Given the description of an element on the screen output the (x, y) to click on. 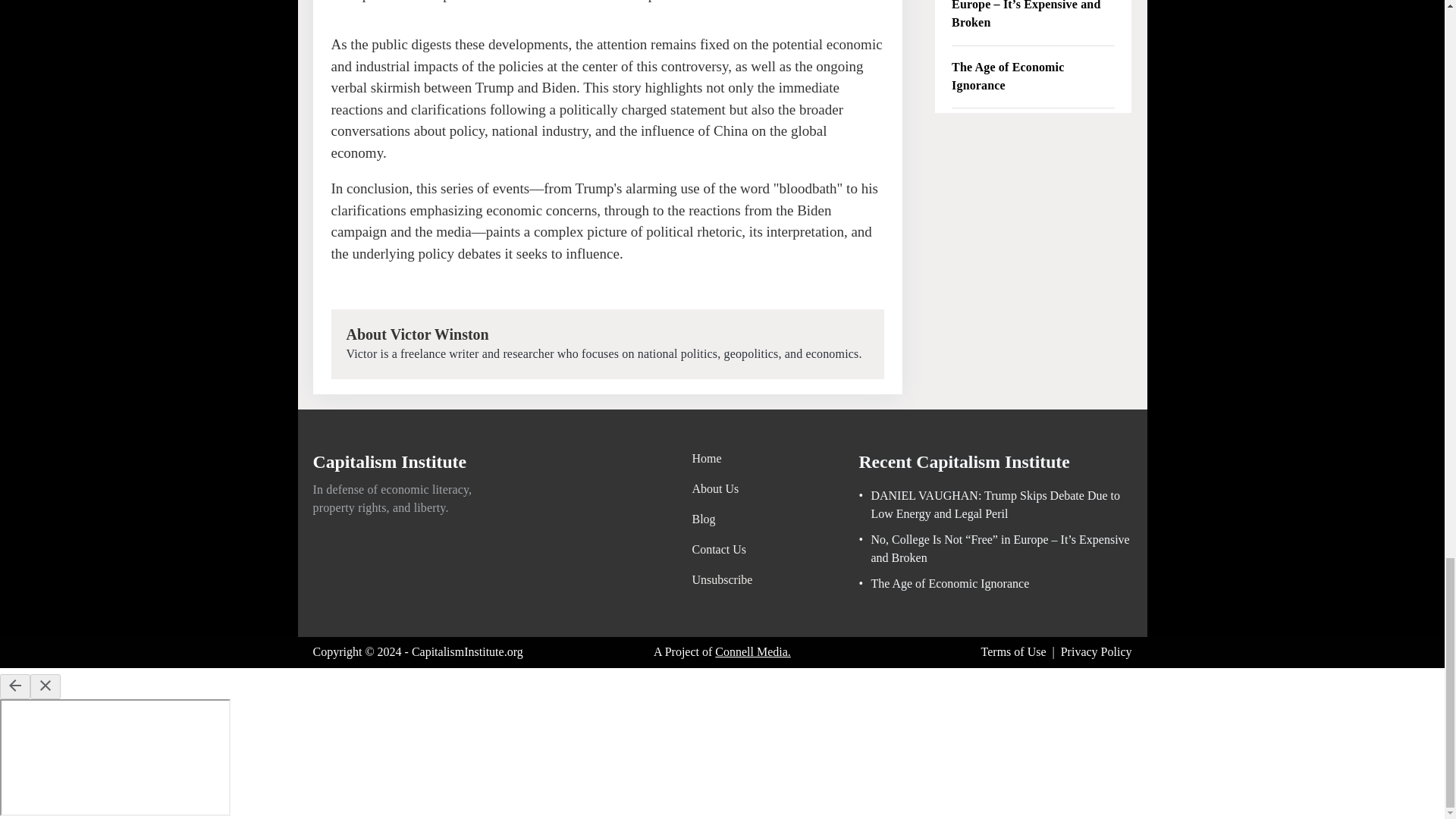
Home (721, 458)
Contact Us (721, 549)
About Us (721, 488)
Connell Media. (752, 651)
The Age of Economic Ignorance (944, 583)
Blog (721, 519)
The Age of Economic Ignorance (1033, 77)
Unsubscribe (721, 579)
Capitalism Institute (390, 464)
